Given the description of an element on the screen output the (x, y) to click on. 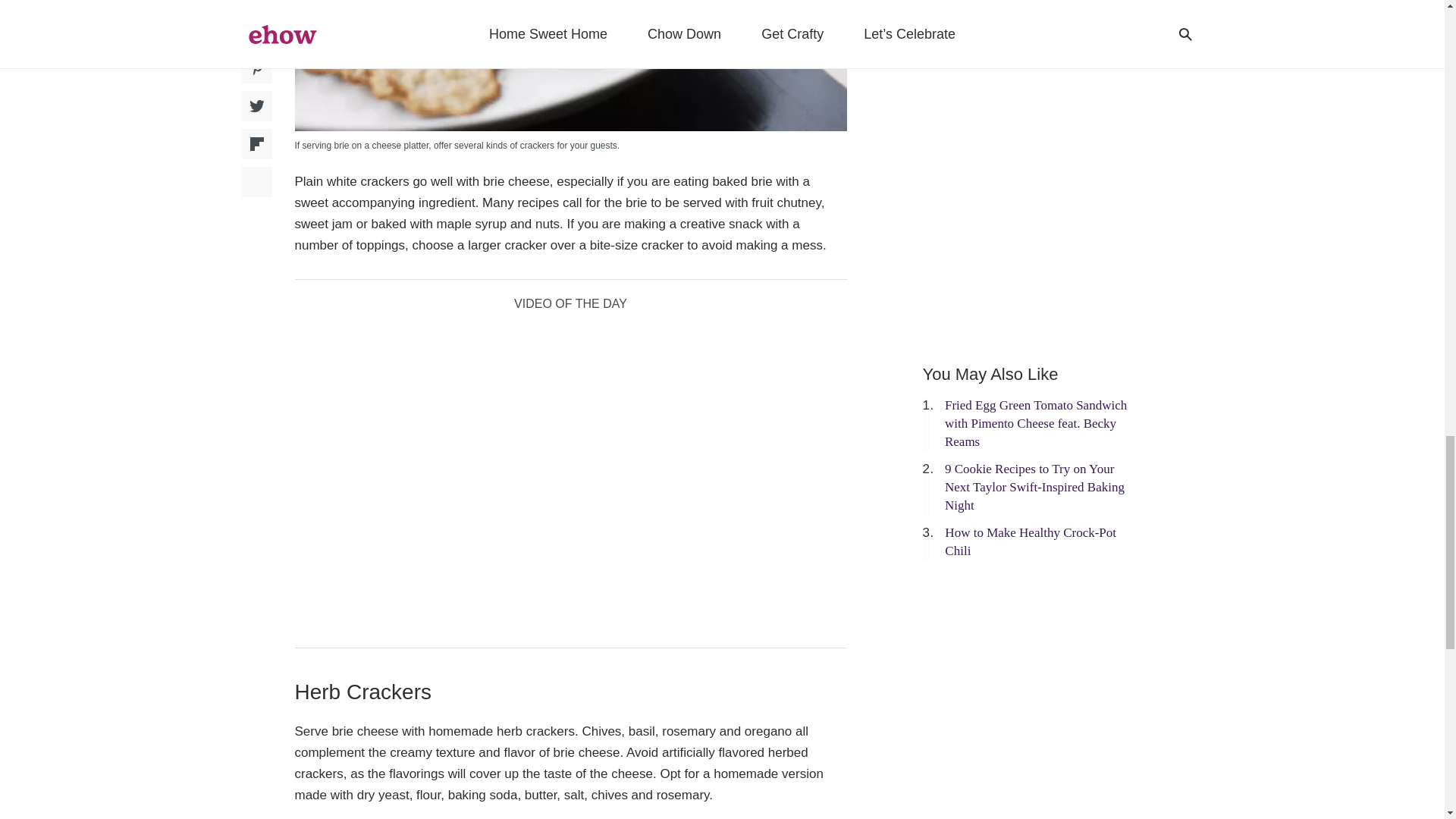
How to Make Healthy Crock-Pot Chili (1030, 541)
